Given the description of an element on the screen output the (x, y) to click on. 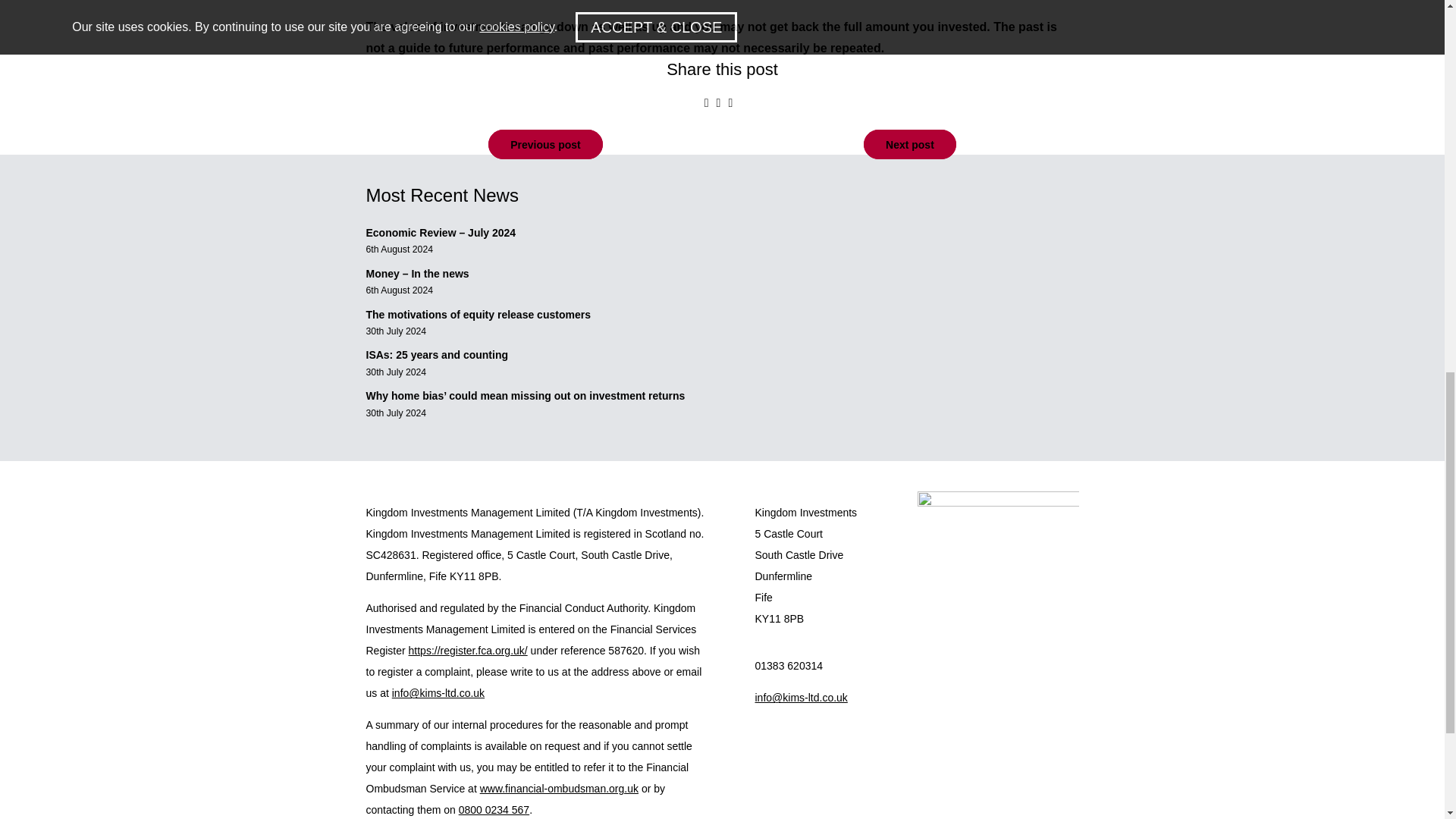
The motivations of equity release customers  (478, 314)
Next post (909, 143)
Previous post (544, 143)
www.financial-ombudsman.org.uk (559, 788)
ISAs: 25 years and counting (436, 354)
0800 0234 567 (493, 809)
